Given the description of an element on the screen output the (x, y) to click on. 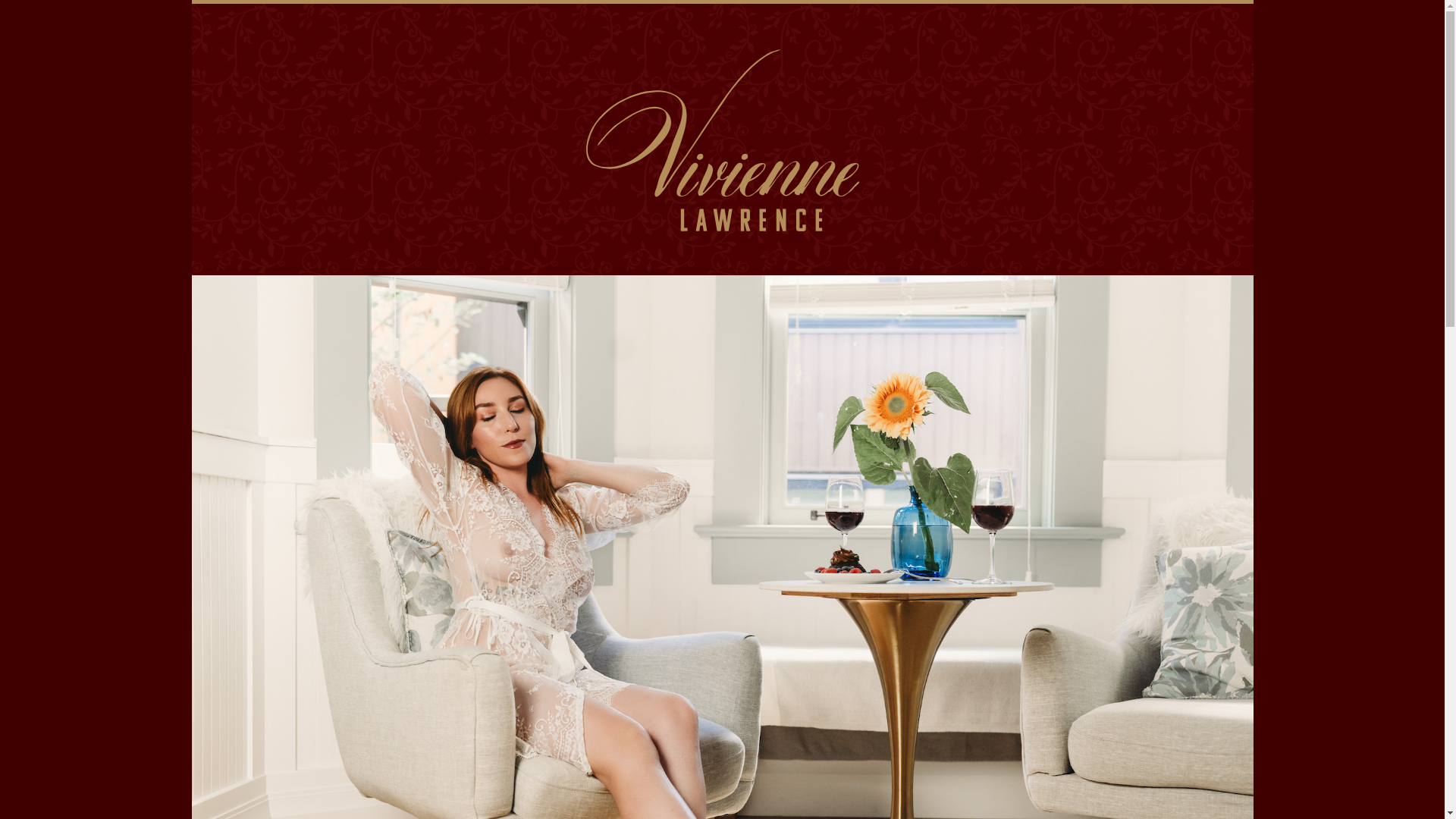
Vivienne Lawrence Element type: hover (721, 136)
